Given the description of an element on the screen output the (x, y) to click on. 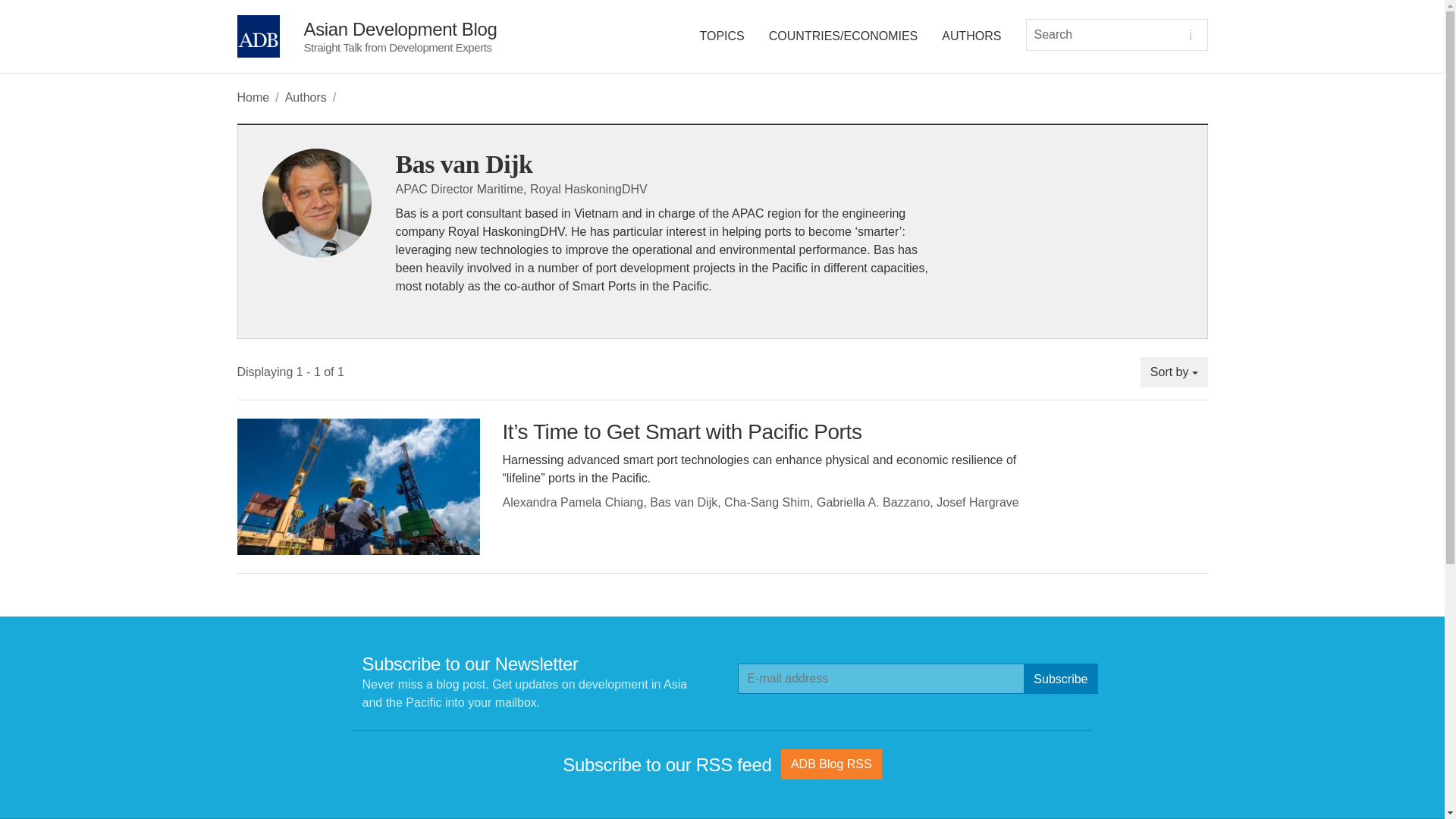
TOPICS (722, 36)
Subscribe (1060, 678)
AUTHORS (971, 36)
